Given the description of an element on the screen output the (x, y) to click on. 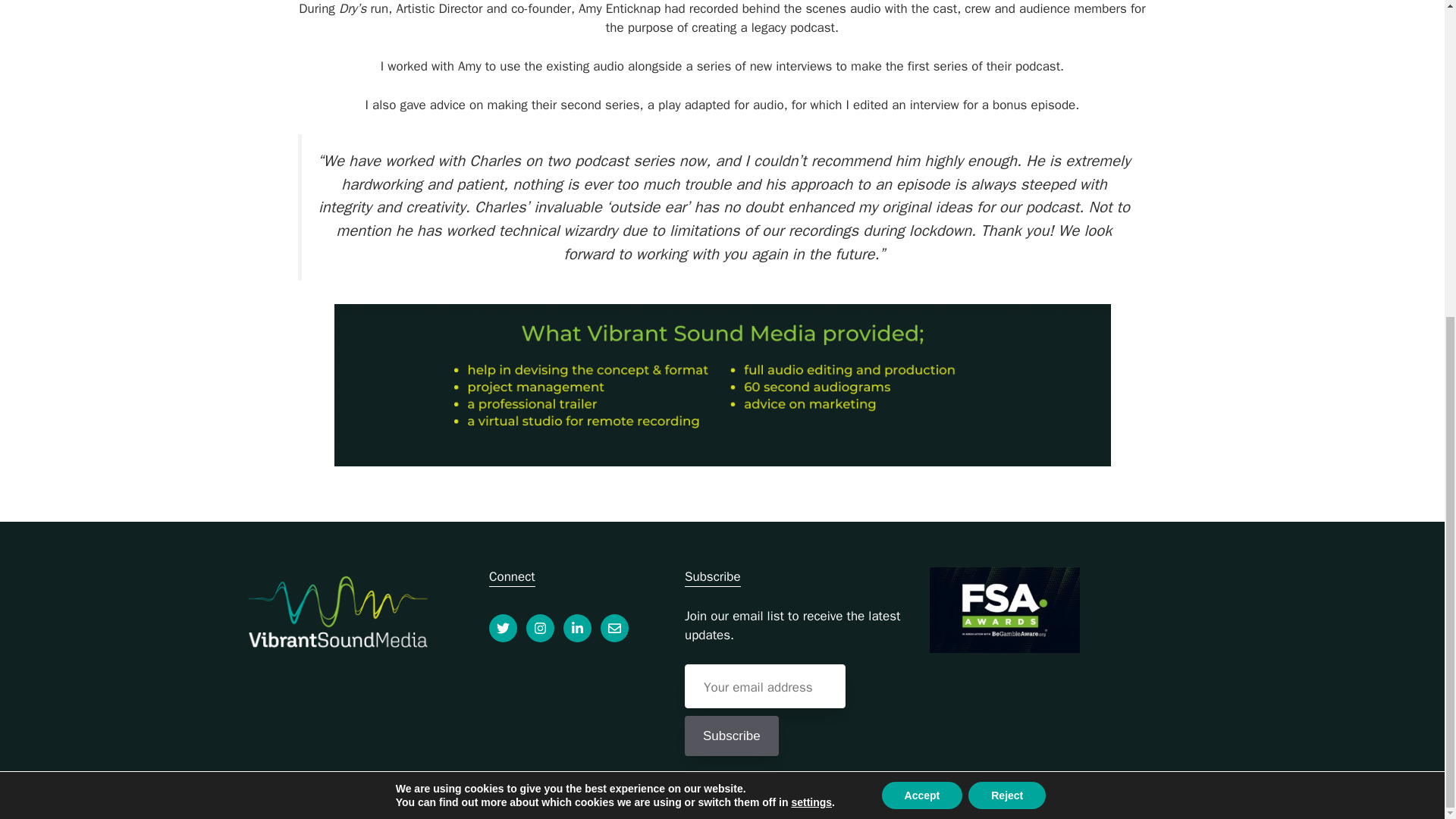
Subscribe (731, 735)
Udderly designed by Two Cows Web (1058, 794)
Subscribe (731, 735)
Privacy Policy (485, 794)
